Given the description of an element on the screen output the (x, y) to click on. 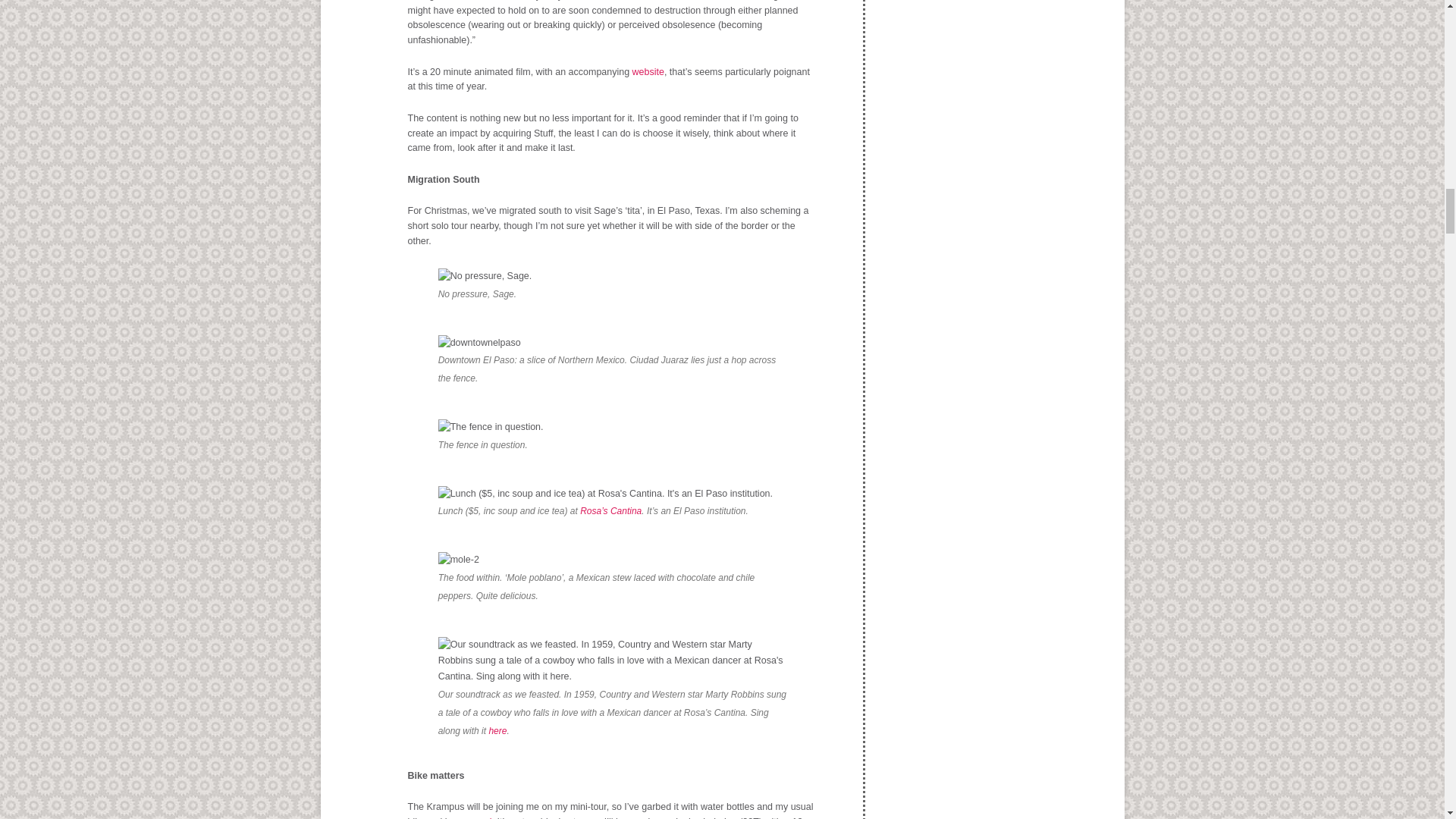
apparel (476, 817)
here (496, 730)
website (647, 71)
